Given the description of an element on the screen output the (x, y) to click on. 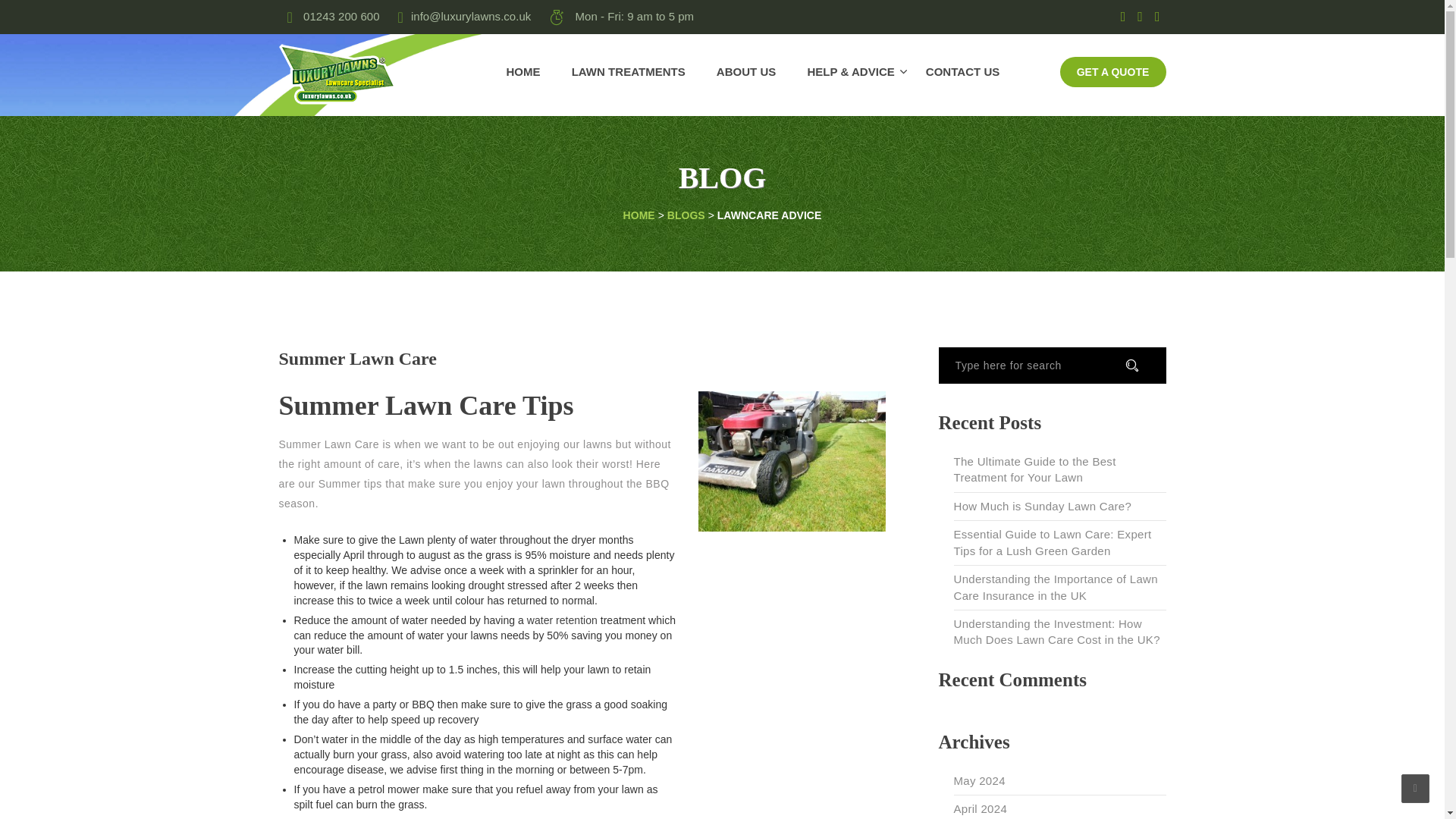
Go to Home. (639, 215)
Summer Lawn Care (357, 358)
BLOGS (685, 215)
CONTACT US (956, 71)
Mon - Fri: 9 am to 5 pm (620, 16)
The Ultimate Guide to the Best Treatment for Your Lawn (1059, 469)
LAWN TREATMENTS (628, 71)
April 2024 (980, 808)
